Given the description of an element on the screen output the (x, y) to click on. 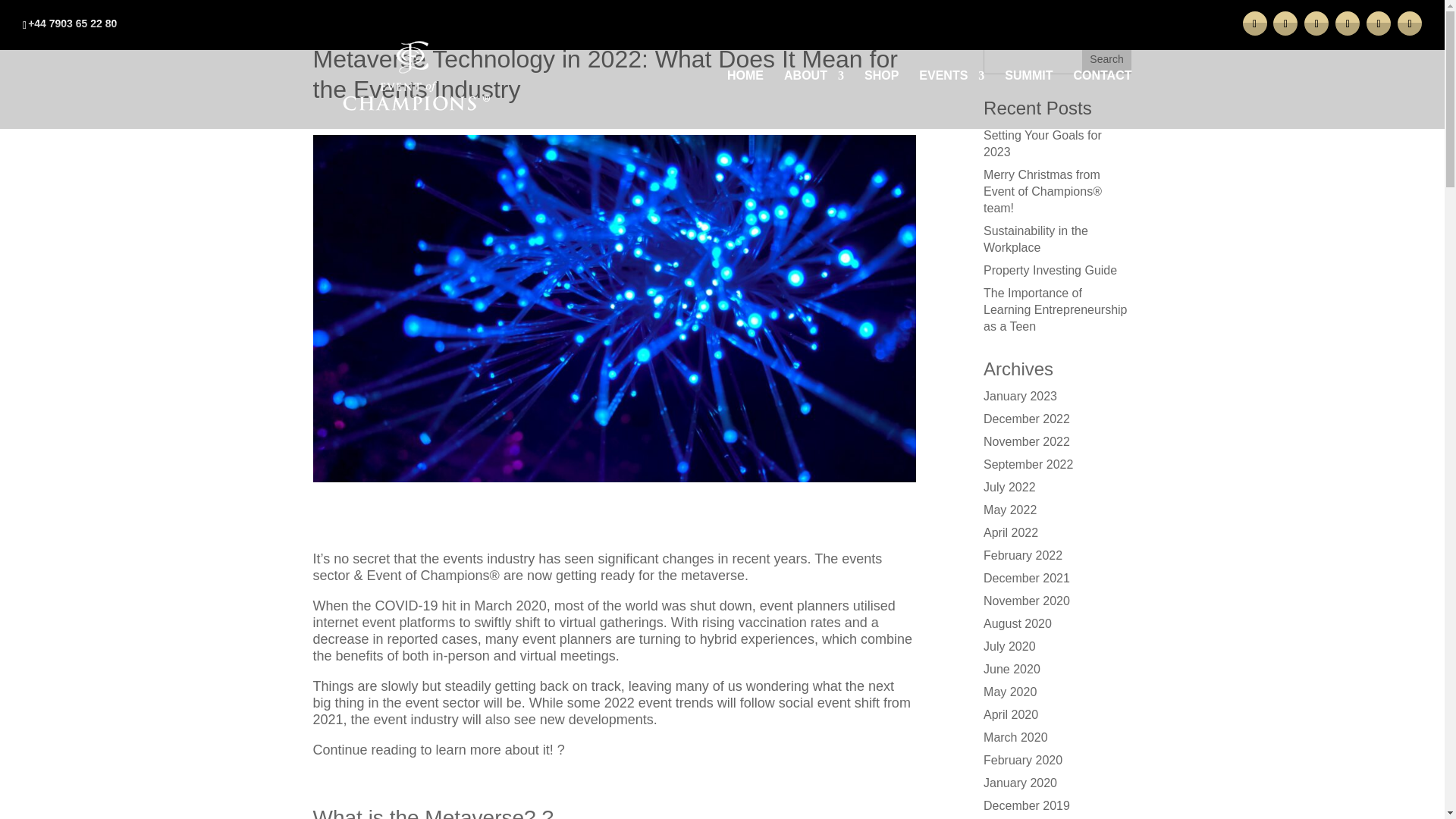
CONTACT (1102, 99)
ABOUT (814, 99)
EVENTS (951, 99)
Search (1106, 59)
